Given the description of an element on the screen output the (x, y) to click on. 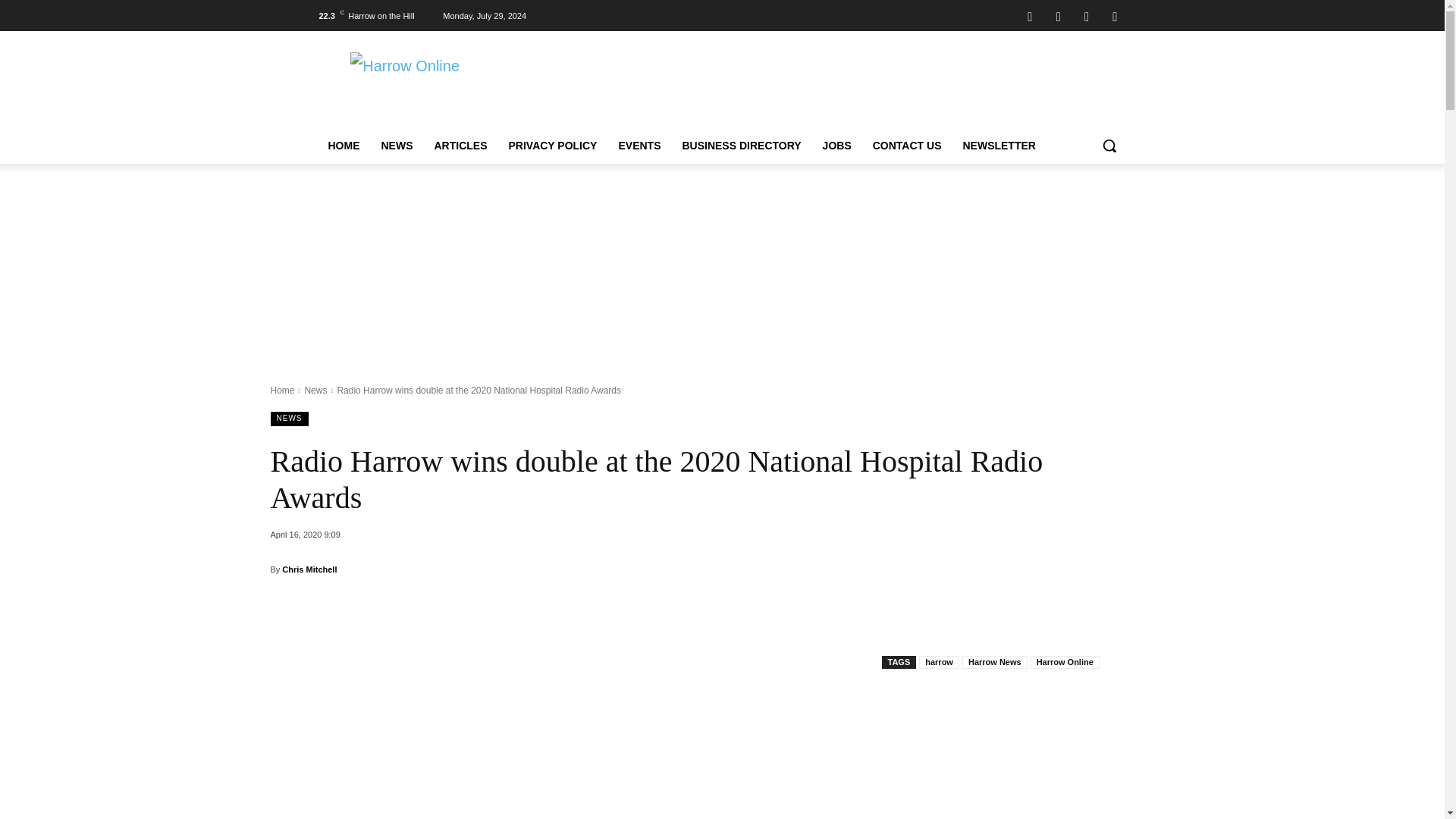
HOME (343, 145)
TikTok (1086, 15)
Twitter (1114, 15)
JOBS (836, 145)
NEWS (396, 145)
Facebook (1029, 15)
NEWSLETTER (998, 145)
PRIVACY POLICY (552, 145)
Instagram (1058, 15)
BUSINESS DIRECTORY (740, 145)
CONTACT US (906, 145)
EVENTS (639, 145)
ARTICLES (460, 145)
